Given the description of an element on the screen output the (x, y) to click on. 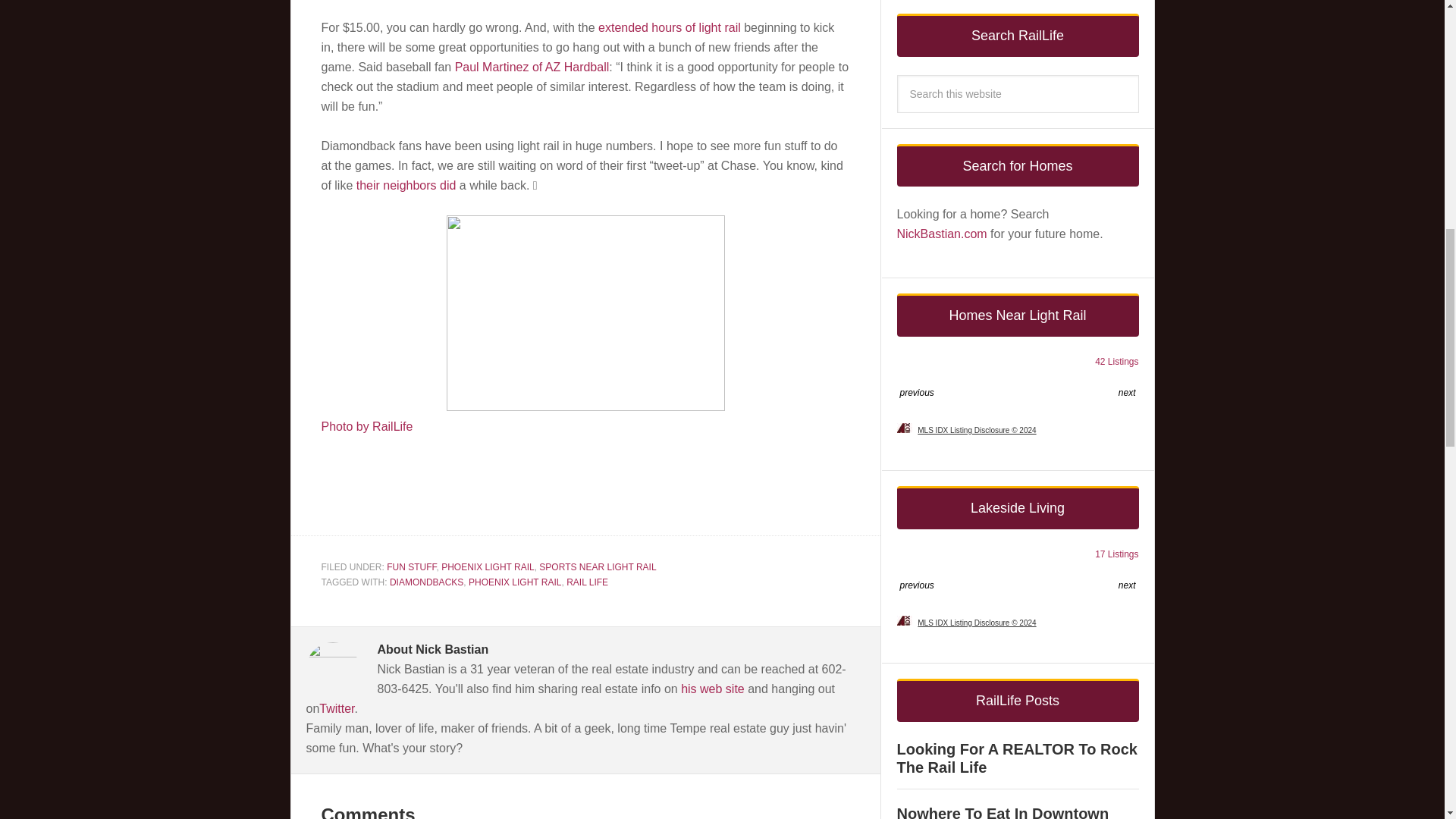
Photo by RailLife (367, 426)
Twitter (335, 707)
his web site (712, 688)
PHOENIX LIGHT RAIL (514, 581)
FUN STUFF (411, 566)
DIAMONDBACKS (426, 581)
Paul Martinez of AZ Hardball (532, 66)
PHOENIX LIGHT RAIL (487, 566)
